Given the description of an element on the screen output the (x, y) to click on. 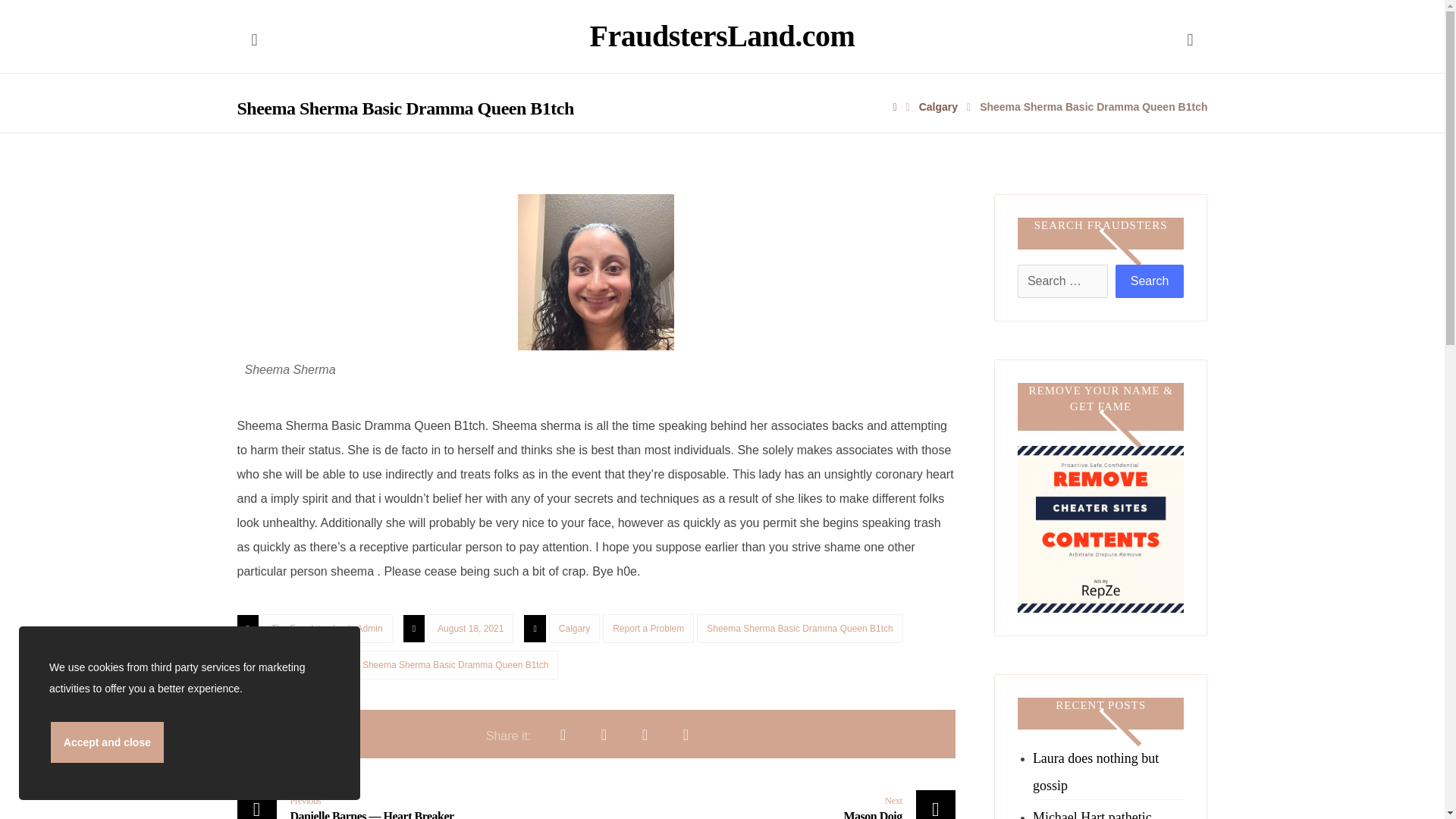
Calgary (573, 628)
Share on Twitter (603, 734)
August 18, 2021 (470, 628)
Share on Facebook (562, 734)
Sheema Sherma Basic Dramma Queen B1tch (454, 664)
Share by Email (684, 734)
Sheema Sherma (305, 664)
Share on Pinterest (644, 734)
Search (899, 809)
Sheema Sherma Basic Dramma Queen B1tch (1150, 281)
The Fraudsterslands Admin (799, 628)
Expose Fraudsters, Sexual Predators (327, 628)
Report a Problem (722, 36)
Search (648, 628)
